Given the description of an element on the screen output the (x, y) to click on. 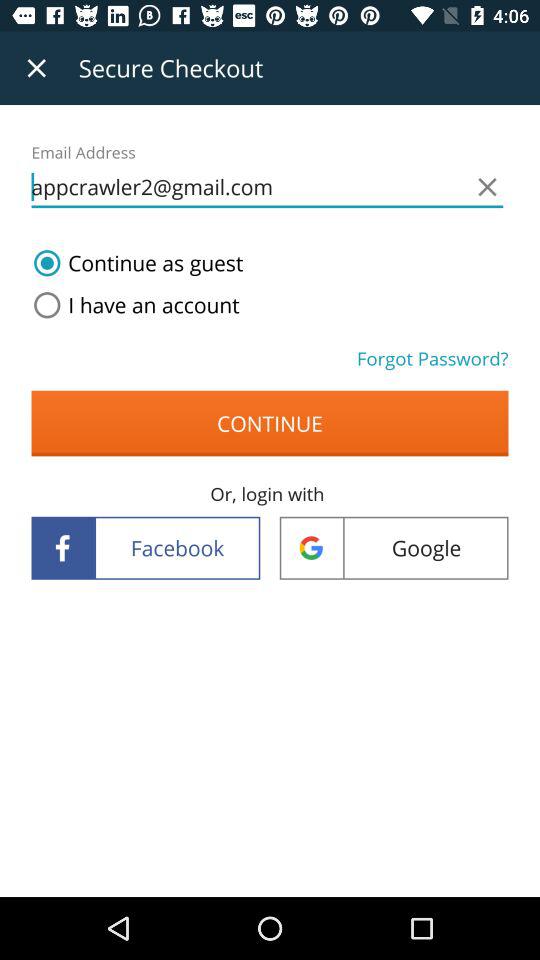
open item to the left of the forgot password? item (132, 305)
